Given the description of an element on the screen output the (x, y) to click on. 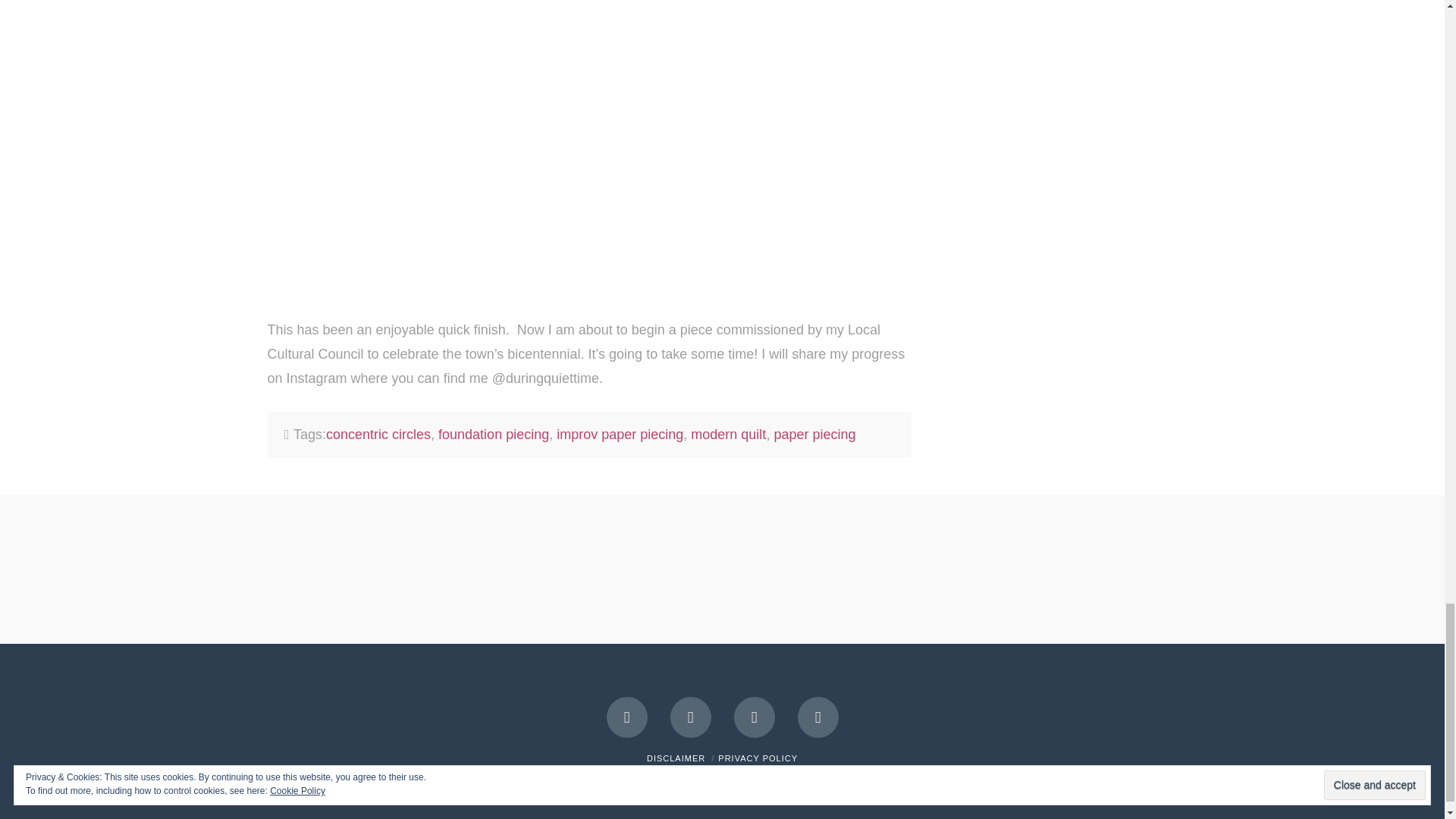
YouTube (753, 716)
Instagram (817, 716)
Facebook (627, 716)
Cappataggle Creative (804, 783)
